Given the description of an element on the screen output the (x, y) to click on. 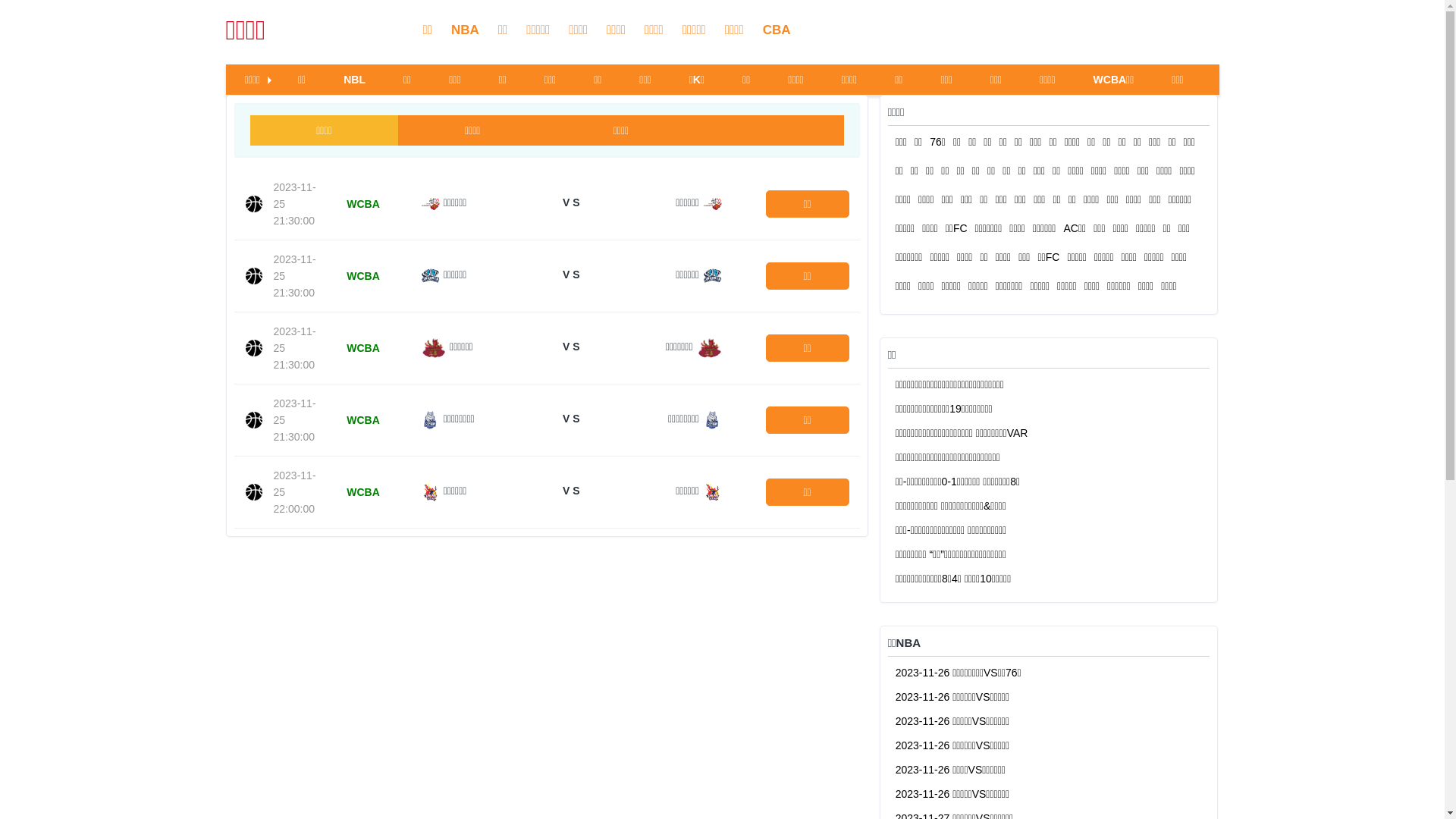
WCBA Element type: text (362, 492)
WCBA Element type: text (362, 420)
WCBA Element type: text (362, 203)
WCBA Element type: text (362, 275)
NBA Element type: text (465, 30)
NBL Element type: text (354, 79)
CBA Element type: text (776, 30)
WCBA Element type: text (362, 348)
